Given the description of an element on the screen output the (x, y) to click on. 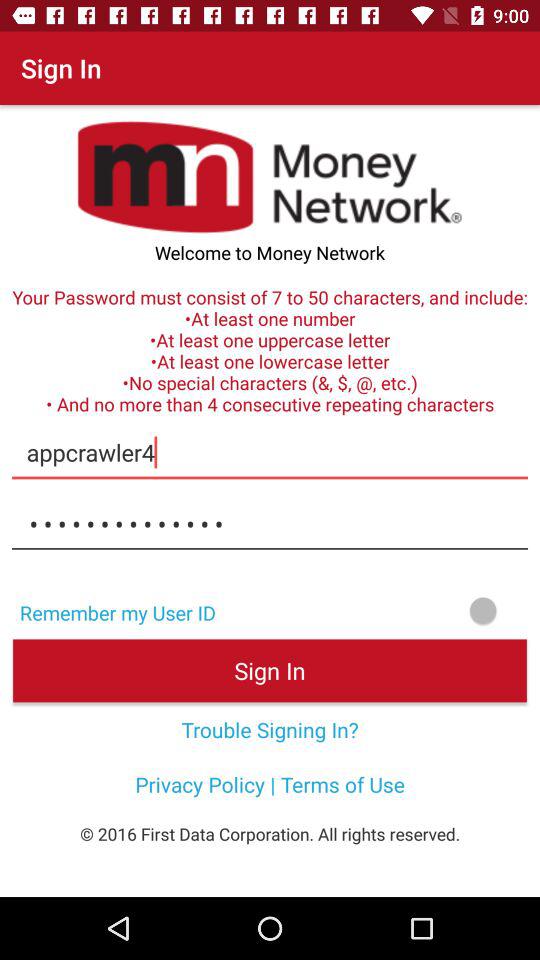
select item below sign in item (270, 729)
